Given the description of an element on the screen output the (x, y) to click on. 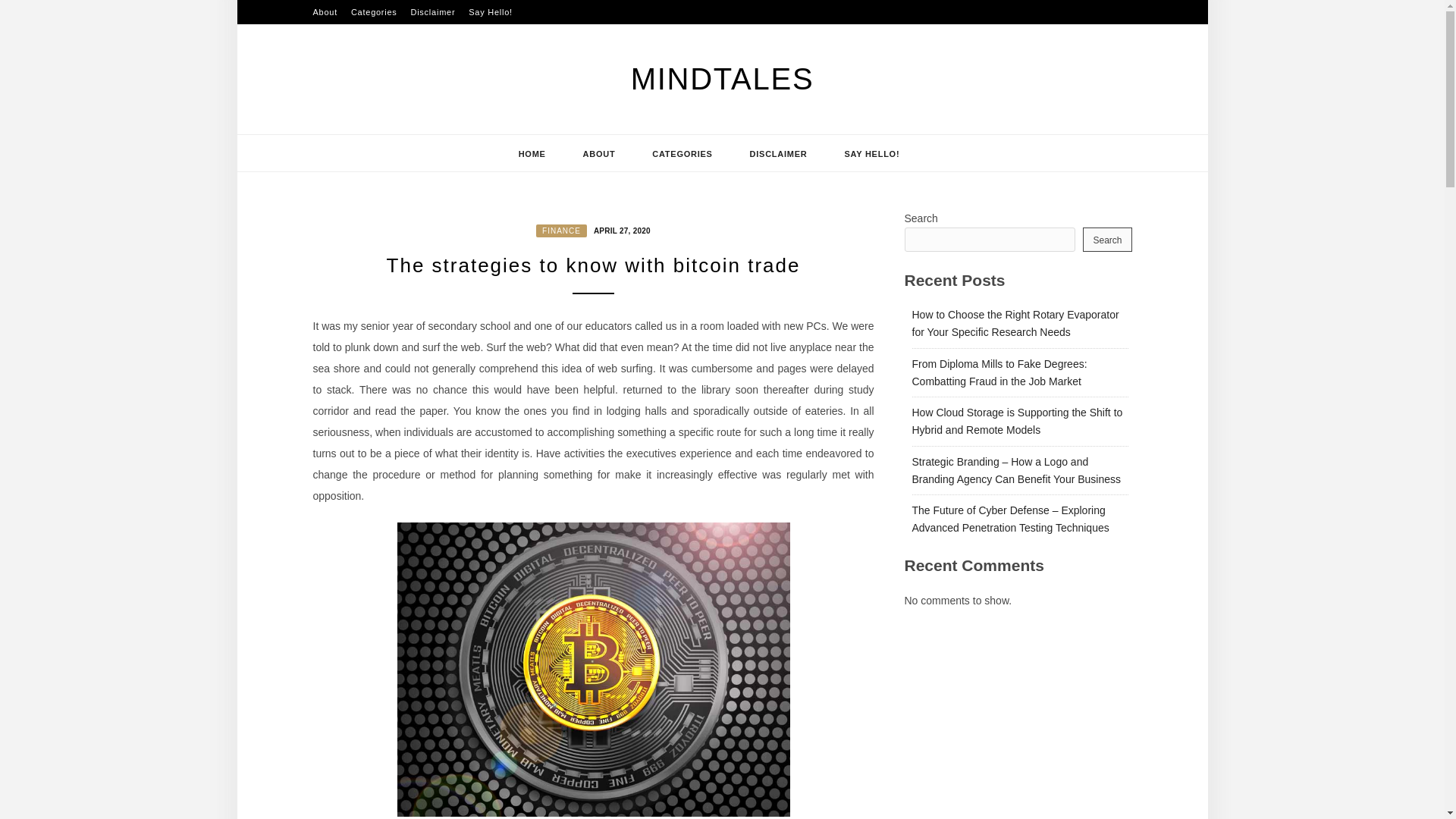
FINANCE (560, 230)
MINDTALES (721, 78)
Categories (373, 12)
APRIL 27, 2020 (619, 229)
SAY HELLO! (871, 153)
ABOUT (599, 153)
About (325, 12)
HOME (532, 153)
DISCLAIMER (777, 153)
CATEGORIES (681, 153)
